Given the description of an element on the screen output the (x, y) to click on. 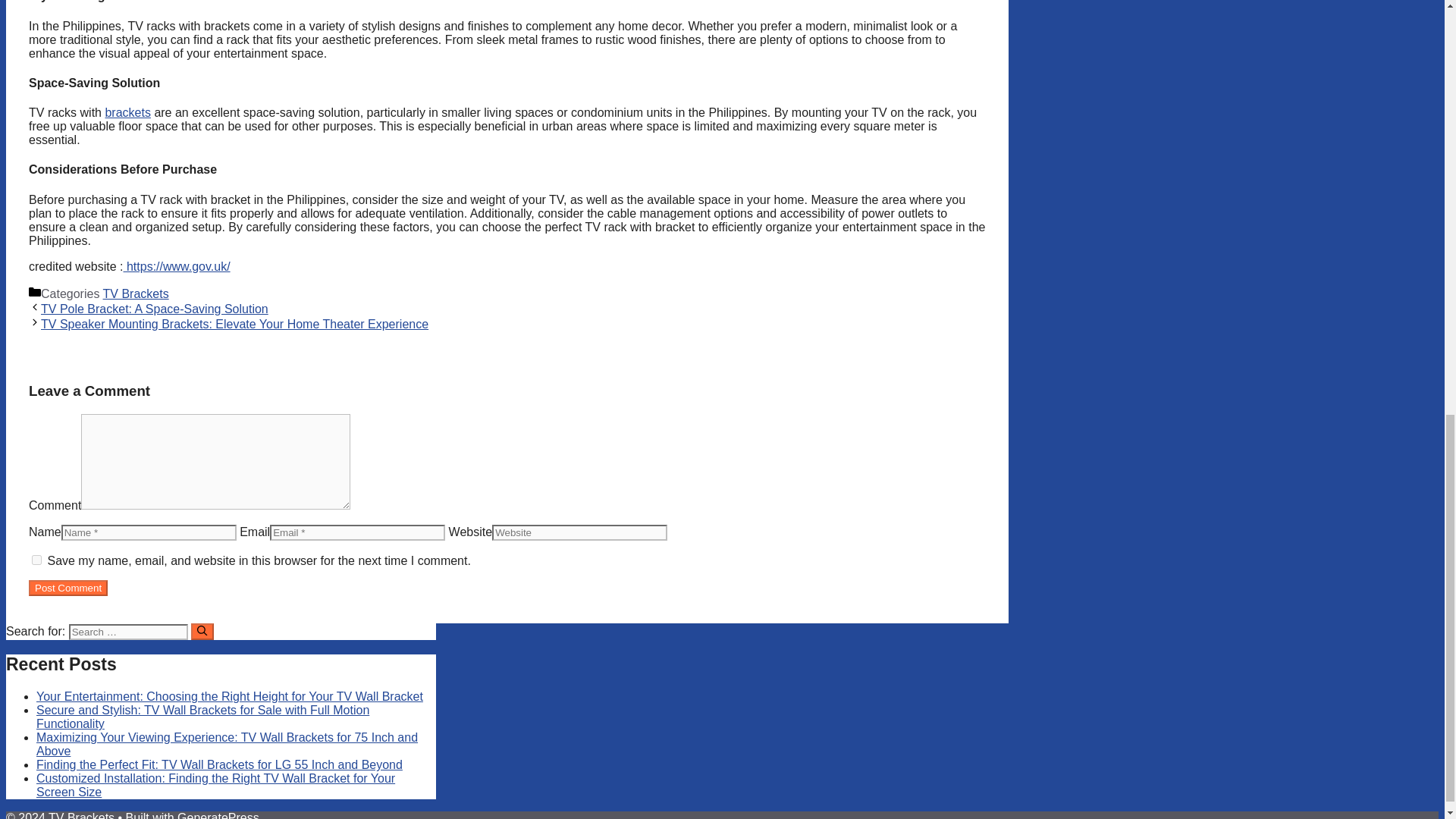
TV Brackets (135, 293)
Post Comment (68, 587)
Search for: (127, 631)
brackets (126, 112)
yes (37, 560)
TV Pole Bracket: A Space-Saving Solution (153, 308)
Post Comment (68, 587)
